Given the description of an element on the screen output the (x, y) to click on. 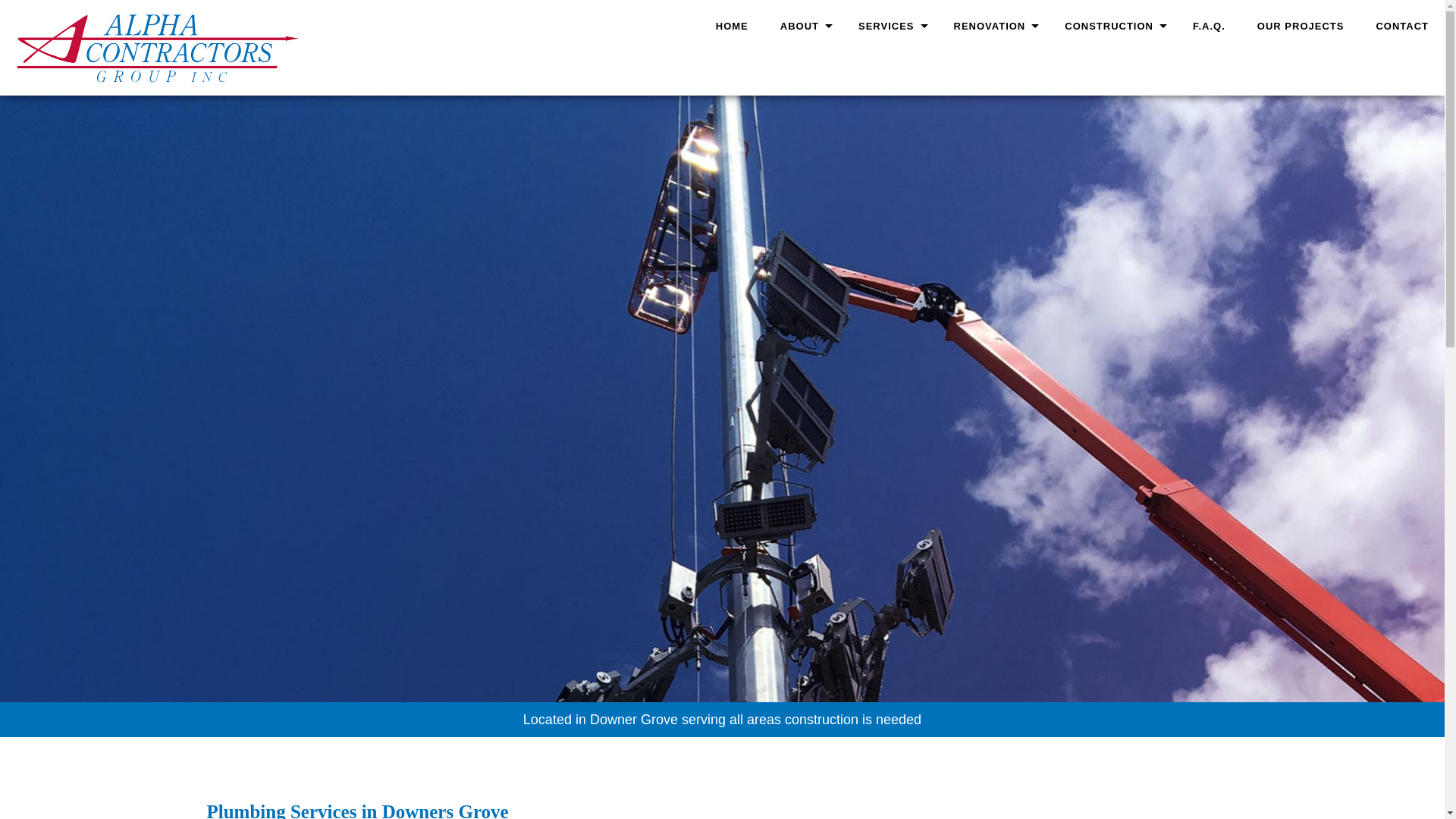
RENOVATION (993, 27)
GUTTERS (890, 201)
STUCCO (890, 94)
FLOORING (890, 439)
CHIMNEY REPAIR (890, 413)
WINDOWS (890, 519)
ELECTRICAL (890, 174)
HOME (732, 27)
CONSTRUCTION (1112, 27)
COMMERCIAL RENOVATION (993, 148)
ABOUT (803, 27)
SERVICE AREAS (803, 68)
DOORS (890, 148)
SERVICES (890, 27)
ROOFING REPAIR (890, 360)
